Given the description of an element on the screen output the (x, y) to click on. 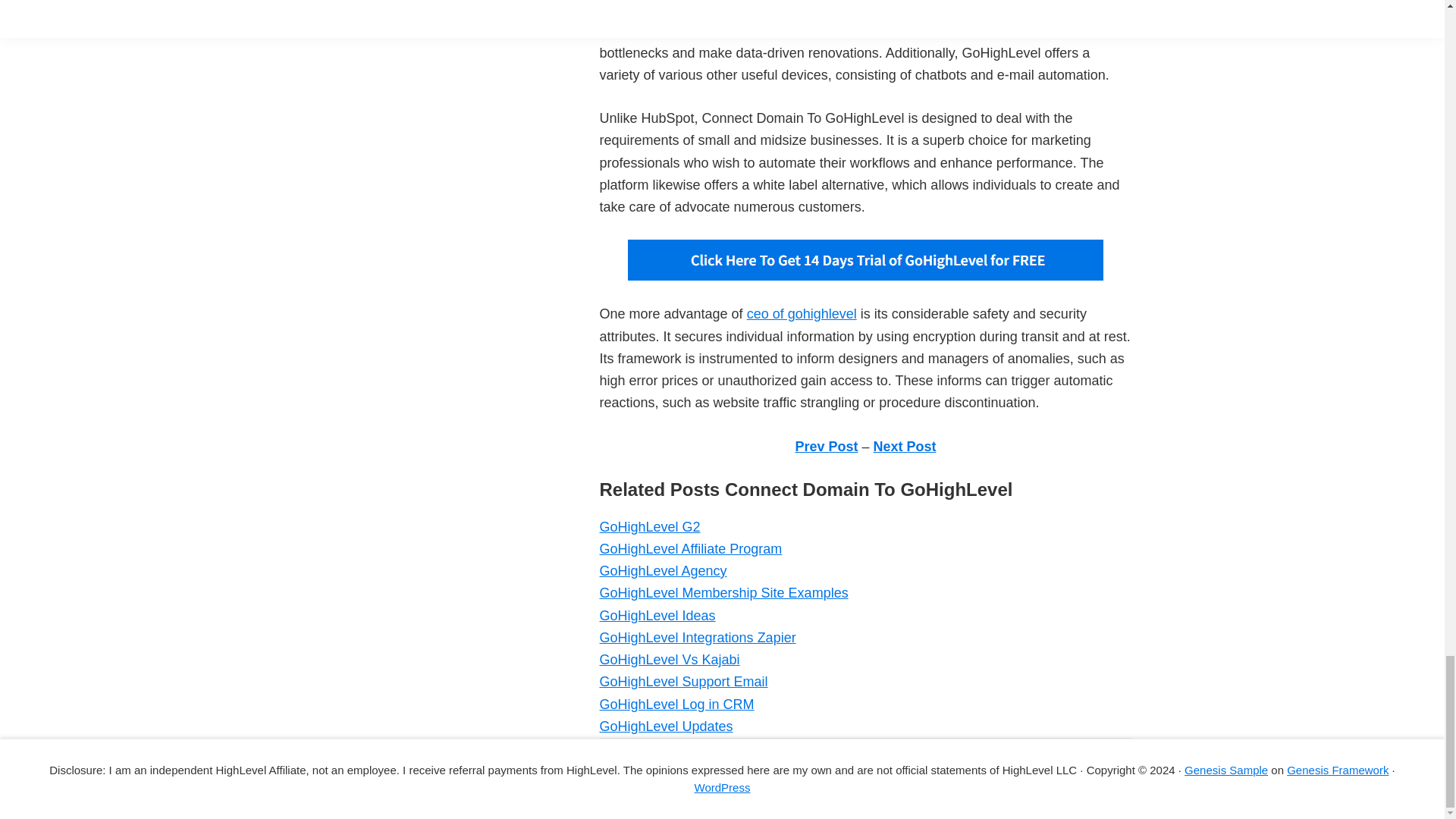
Prev Post (825, 446)
GoHighLevel Agency (662, 570)
GoHighLevel Support Email (682, 681)
Next Post (904, 446)
GoHighLevel G2 (649, 526)
GoHighLevel Affiliate Program (689, 548)
GoHighLevel Ideas (656, 615)
GoHighLevel Integrations Zapier (696, 637)
GoHighLevel Log in CRM (676, 703)
GoHighLevel Log in CRM (676, 703)
